Given the description of an element on the screen output the (x, y) to click on. 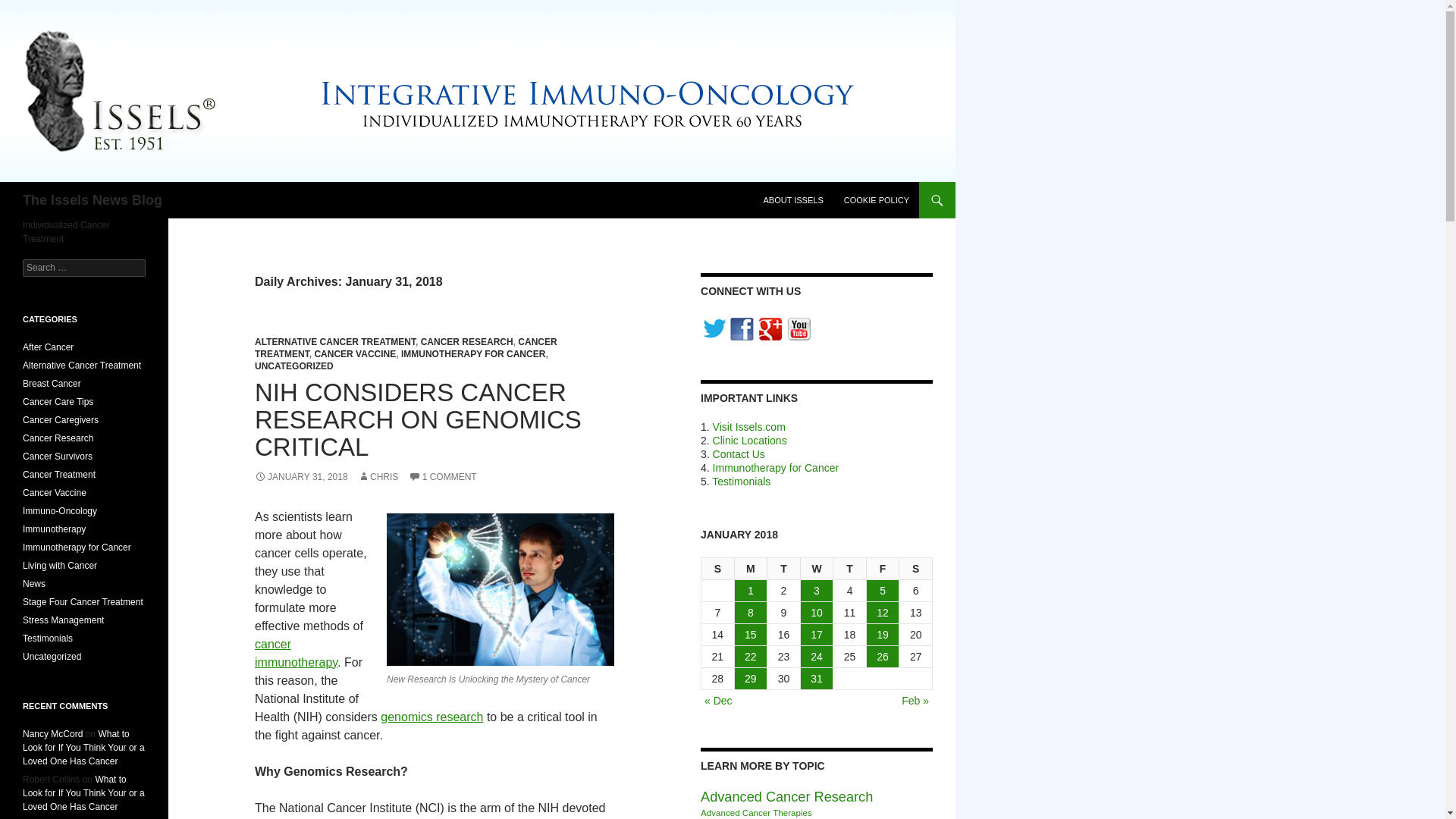
cancer immunotherapy (295, 653)
COOKIE POLICY (876, 199)
Visit Issels.com (749, 426)
CHRIS (377, 476)
Clinic Locations (750, 440)
Monday (751, 568)
Friday (882, 568)
NIH CONSIDERS CANCER RESEARCH ON GENOMICS CRITICAL (417, 419)
Contact Us (739, 453)
Thursday (849, 568)
